Given the description of an element on the screen output the (x, y) to click on. 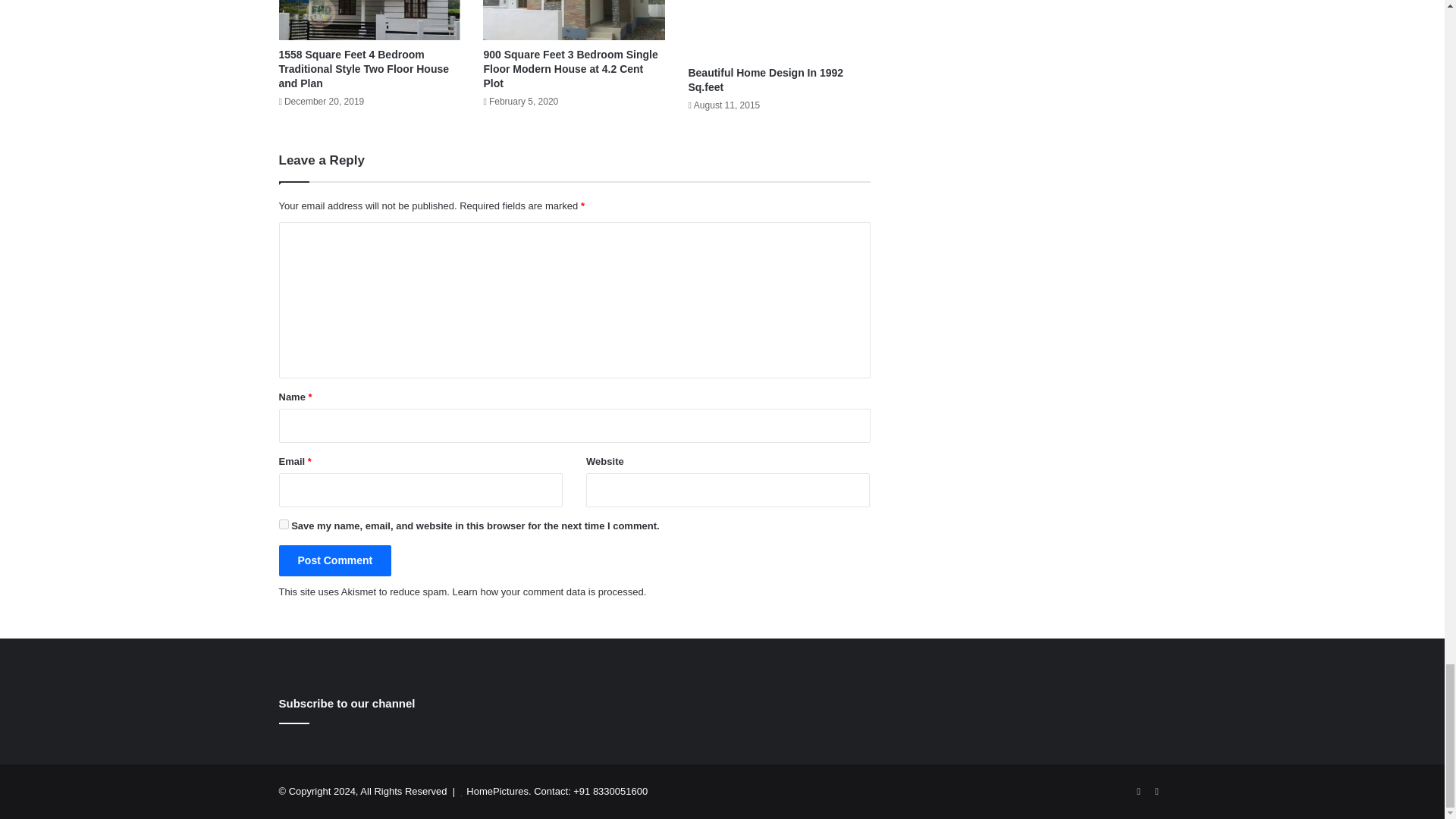
Post Comment (335, 560)
yes (283, 524)
